Given the description of an element on the screen output the (x, y) to click on. 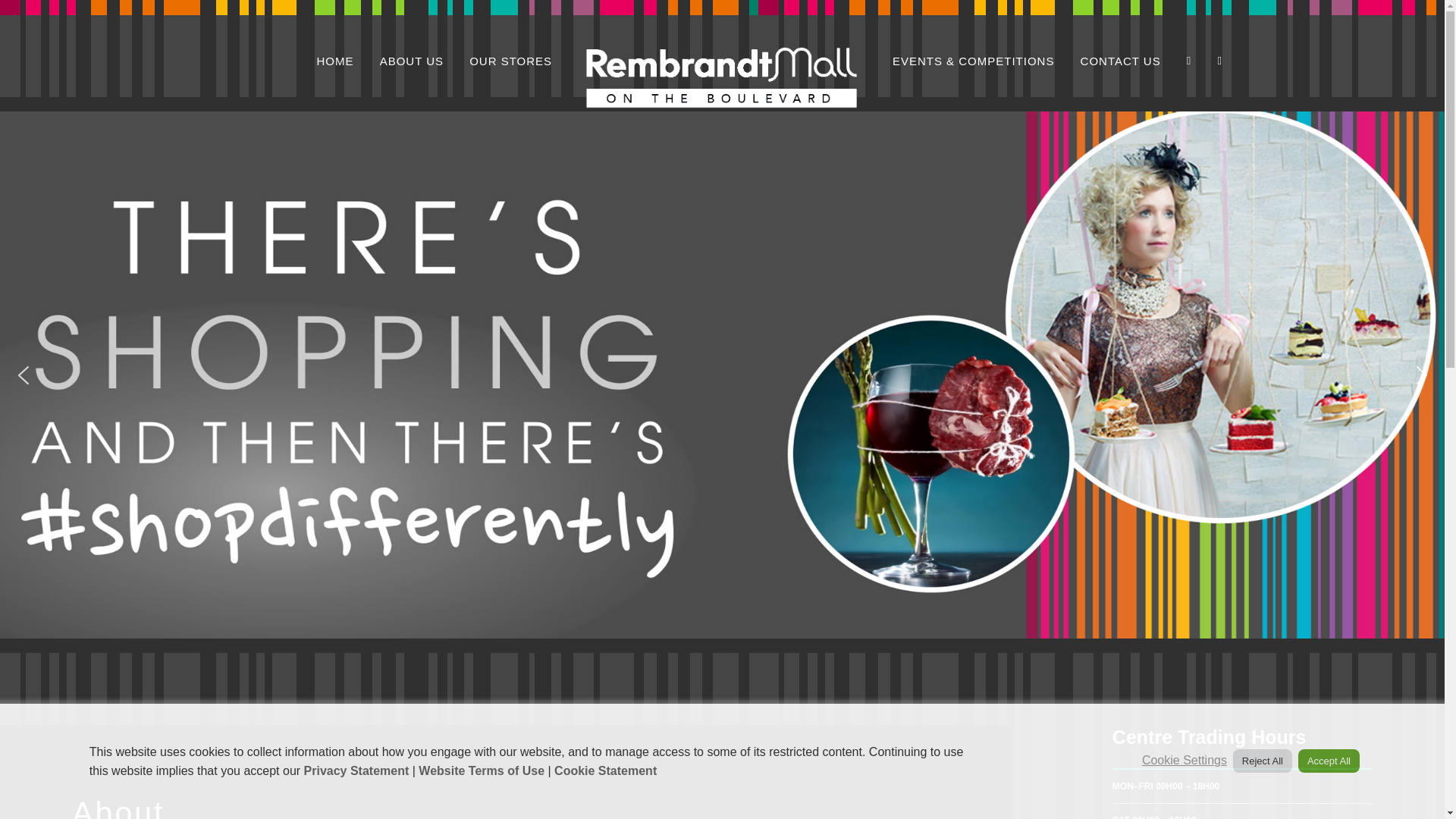
ABOUT US (412, 60)
Privacy Statement (356, 770)
Website Terms of Use (481, 770)
Cookie Settings (1184, 760)
Cookie Statement (605, 770)
OUR STORES (509, 60)
Accept All (1328, 761)
CONTACT US (1120, 60)
HOME (335, 60)
Reject All (1262, 761)
